Given the description of an element on the screen output the (x, y) to click on. 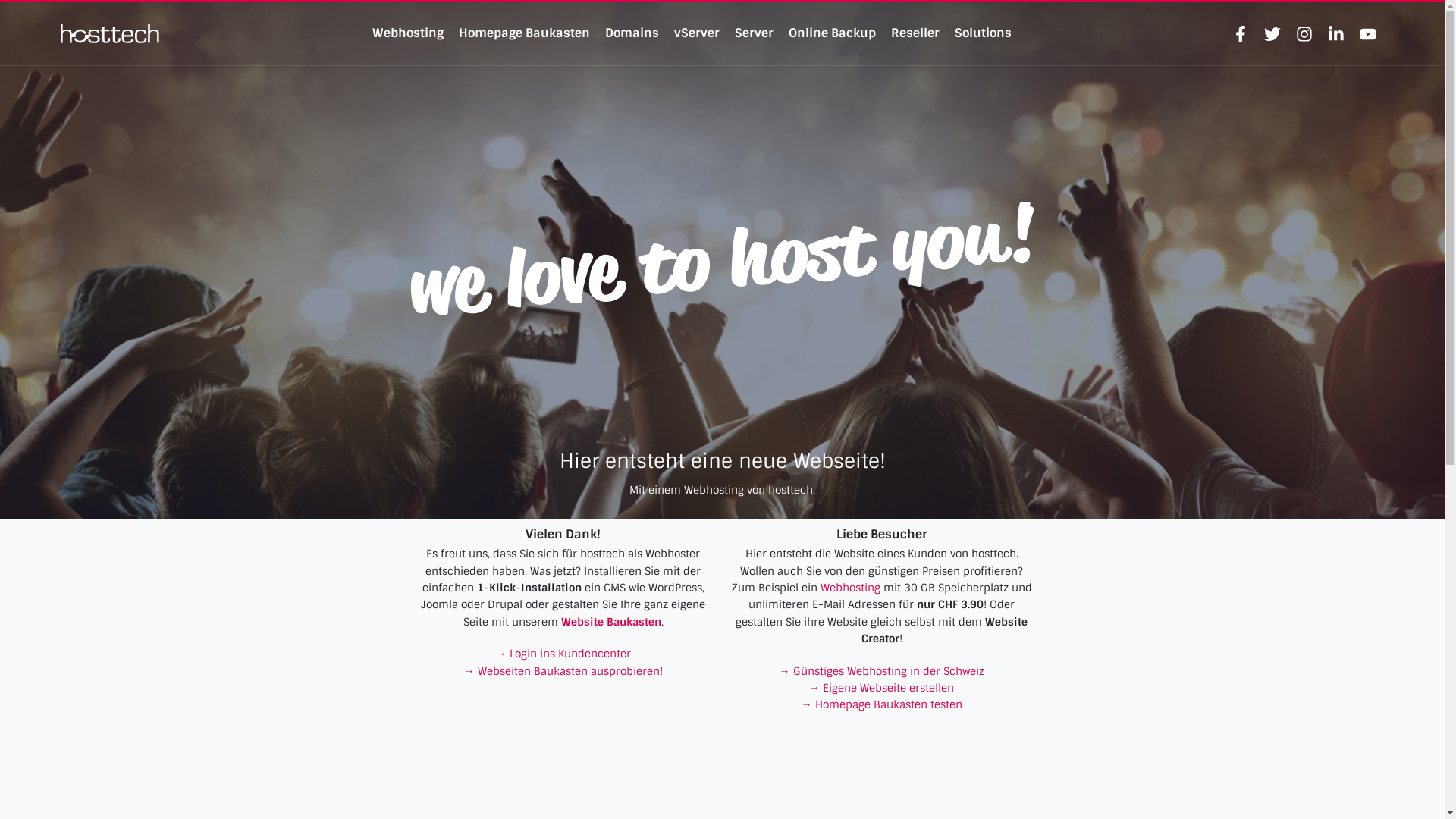
Website Baukasten Element type: text (611, 621)
Reseller Element type: text (915, 32)
Domains Element type: text (631, 32)
Solutions Element type: text (982, 32)
Webhosting Element type: text (407, 32)
Server Element type: text (753, 32)
Online Backup Element type: text (831, 32)
Webhosting Element type: text (850, 587)
vServer Element type: text (696, 32)
Homepage Baukasten Element type: text (523, 32)
